Given the description of an element on the screen output the (x, y) to click on. 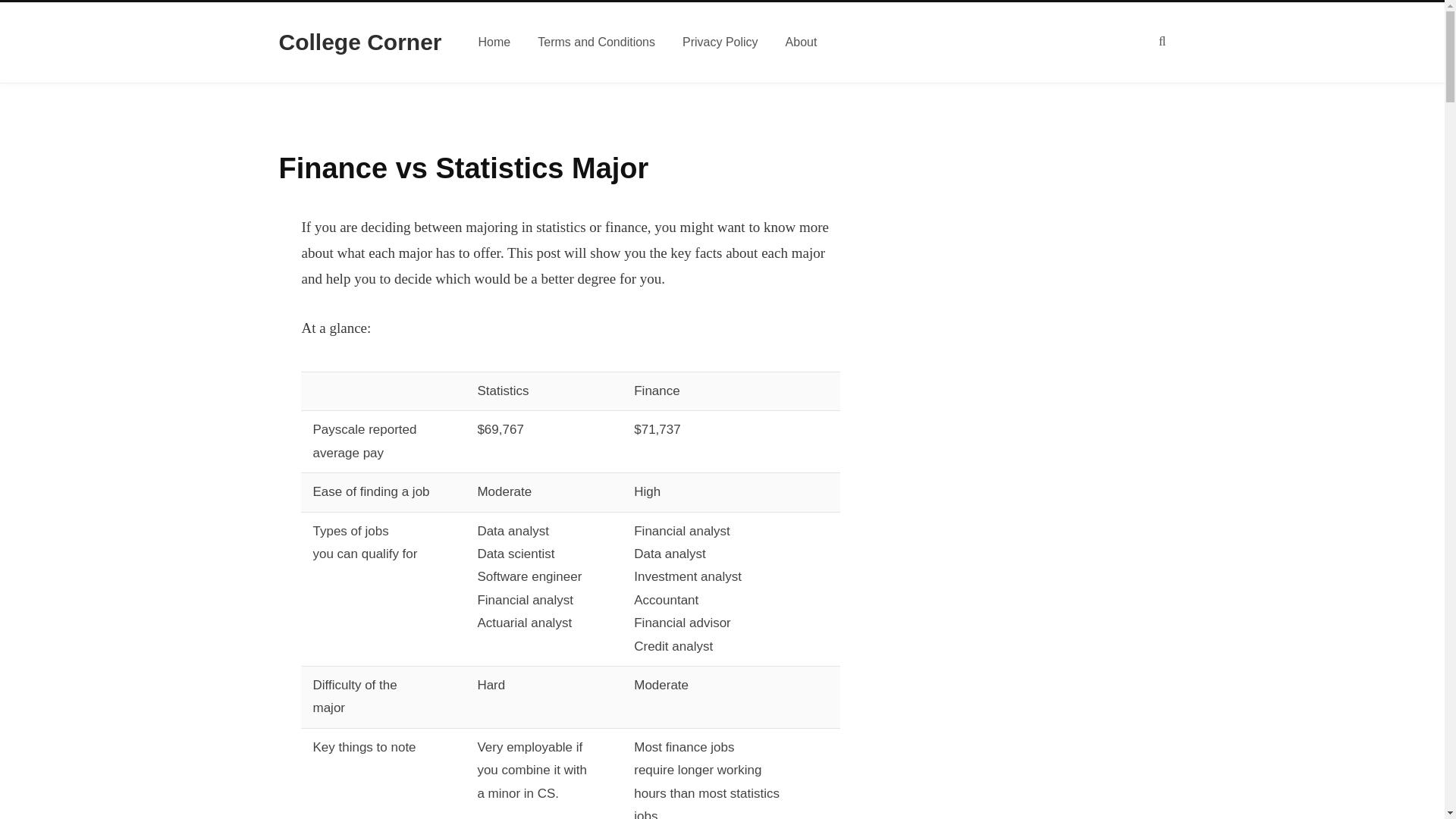
Home (494, 41)
College Corner (360, 42)
About (801, 41)
Terms and Conditions (596, 41)
College Corner (360, 42)
Privacy Policy (719, 41)
